Given the description of an element on the screen output the (x, y) to click on. 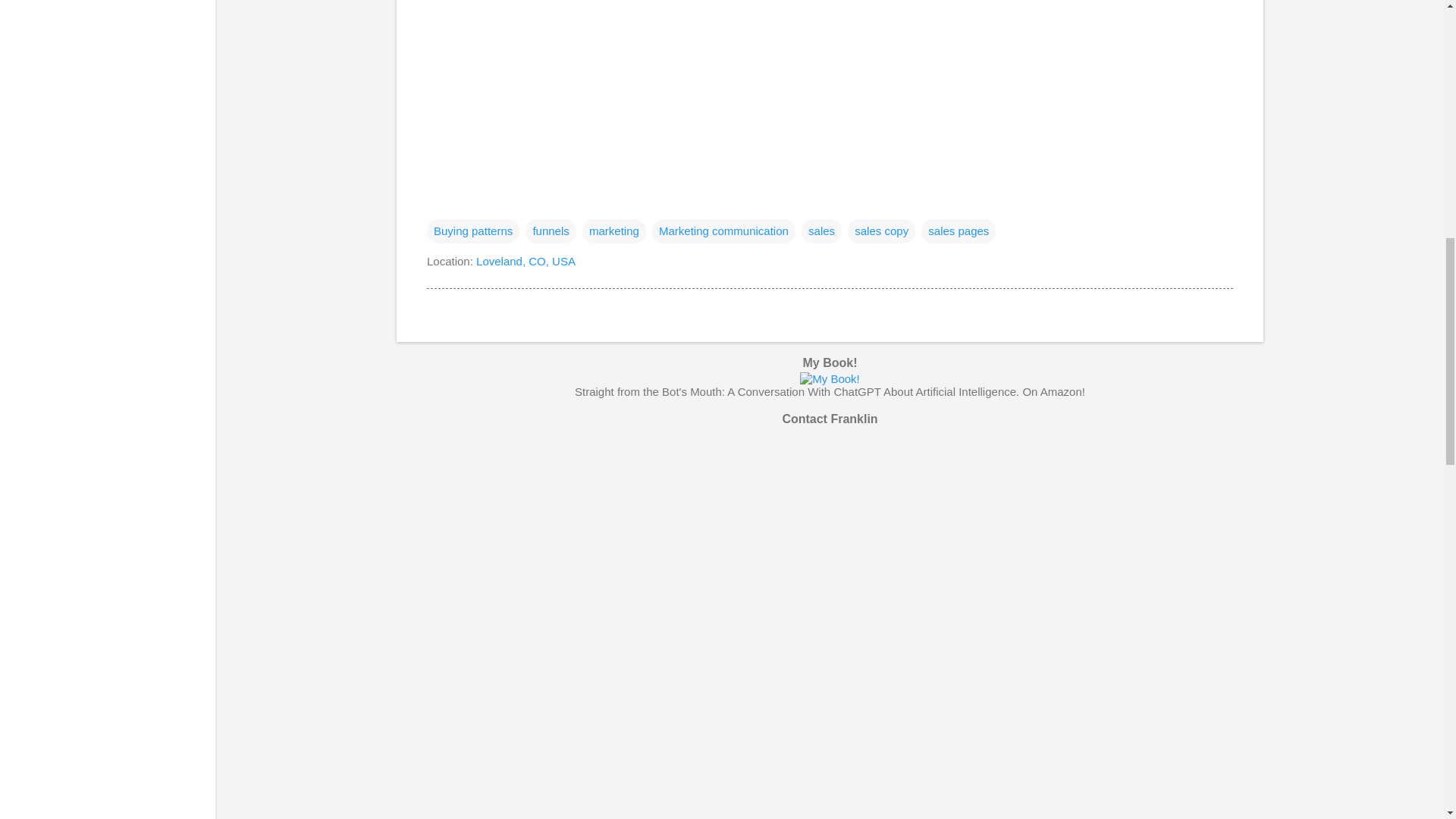
YouTube video player (638, 40)
Loveland, CO, USA (525, 260)
sales copy (881, 230)
funnels (550, 230)
sales pages (958, 230)
Marketing communication (723, 230)
sales (821, 230)
Buying patterns (472, 230)
marketing (614, 230)
